Given the description of an element on the screen output the (x, y) to click on. 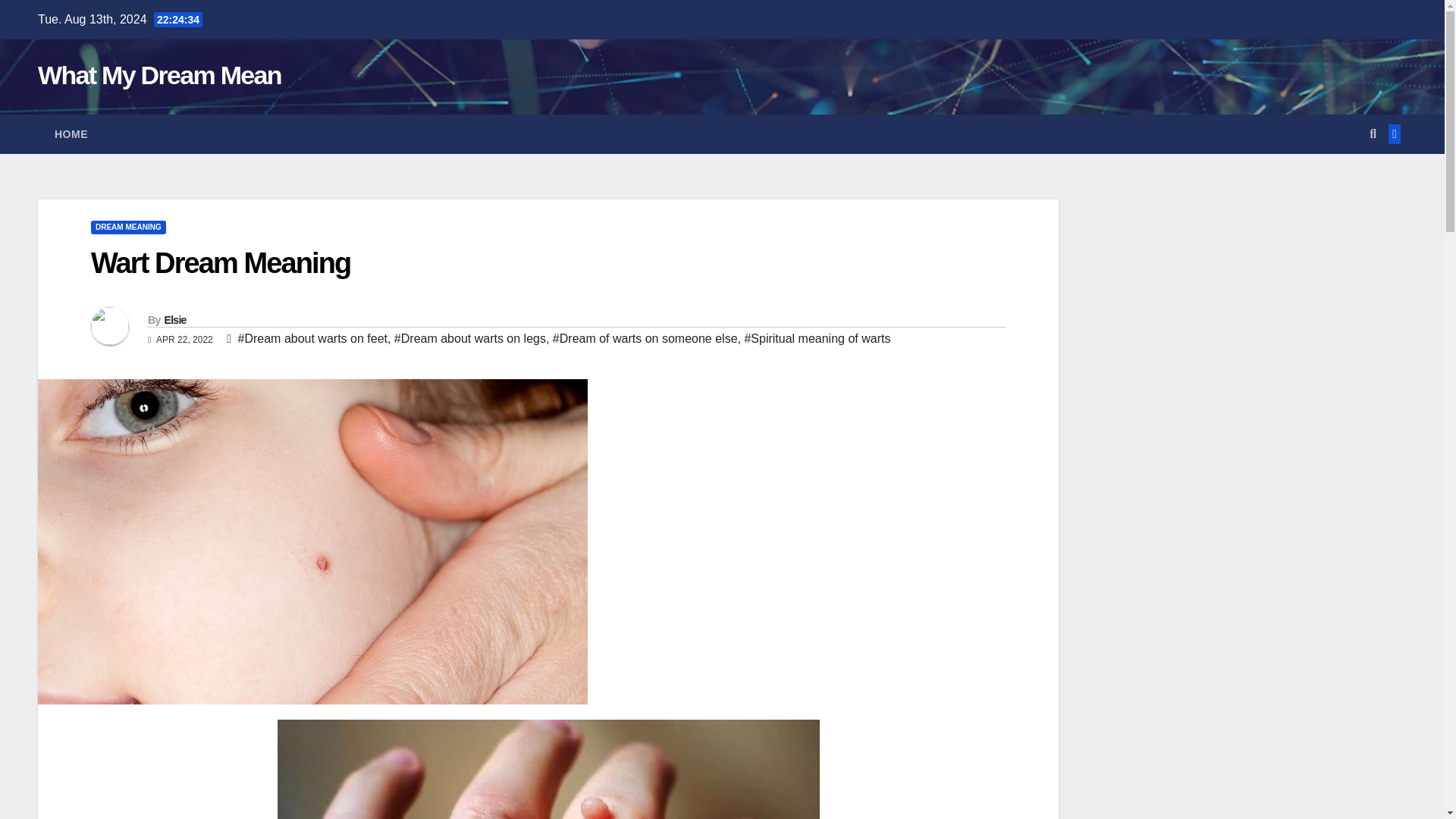
DREAM MEANING (127, 227)
Elsie (174, 319)
HOME (70, 133)
Permalink to: Wart Dream Meaning (220, 263)
Home (70, 133)
What My Dream Mean (159, 74)
Wart Dream Meaning (220, 263)
